Given the description of an element on the screen output the (x, y) to click on. 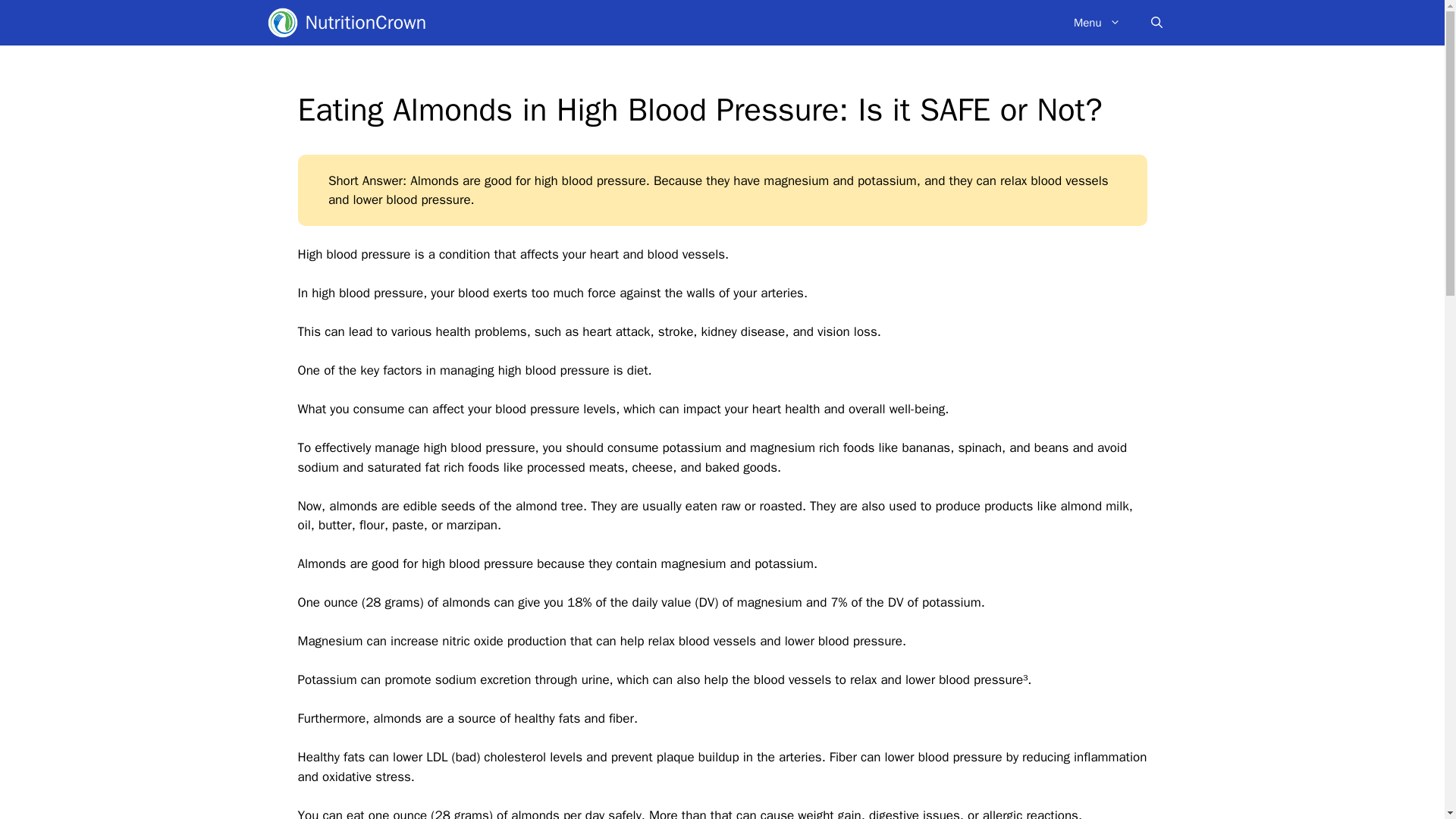
NutritionCrown (365, 22)
Menu (1096, 22)
